Given the description of an element on the screen output the (x, y) to click on. 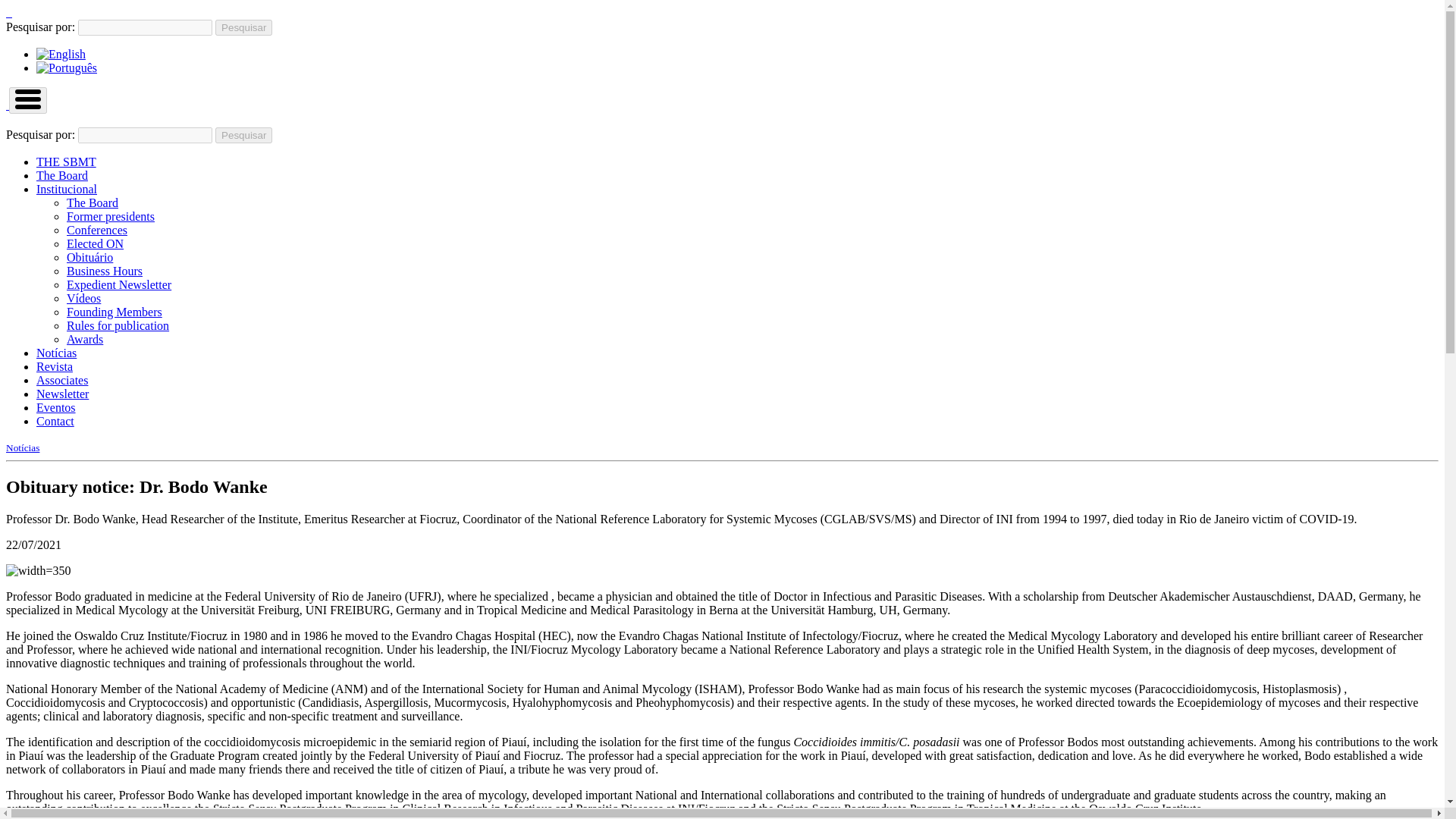
Elected ON (94, 243)
Founding Members (113, 311)
Contact (55, 420)
Business Hours (104, 270)
Institucional (66, 188)
Conferences (97, 229)
Pesquisar (243, 27)
Associates (61, 379)
Eventos (55, 407)
Rules for publication (117, 325)
